Given the description of an element on the screen output the (x, y) to click on. 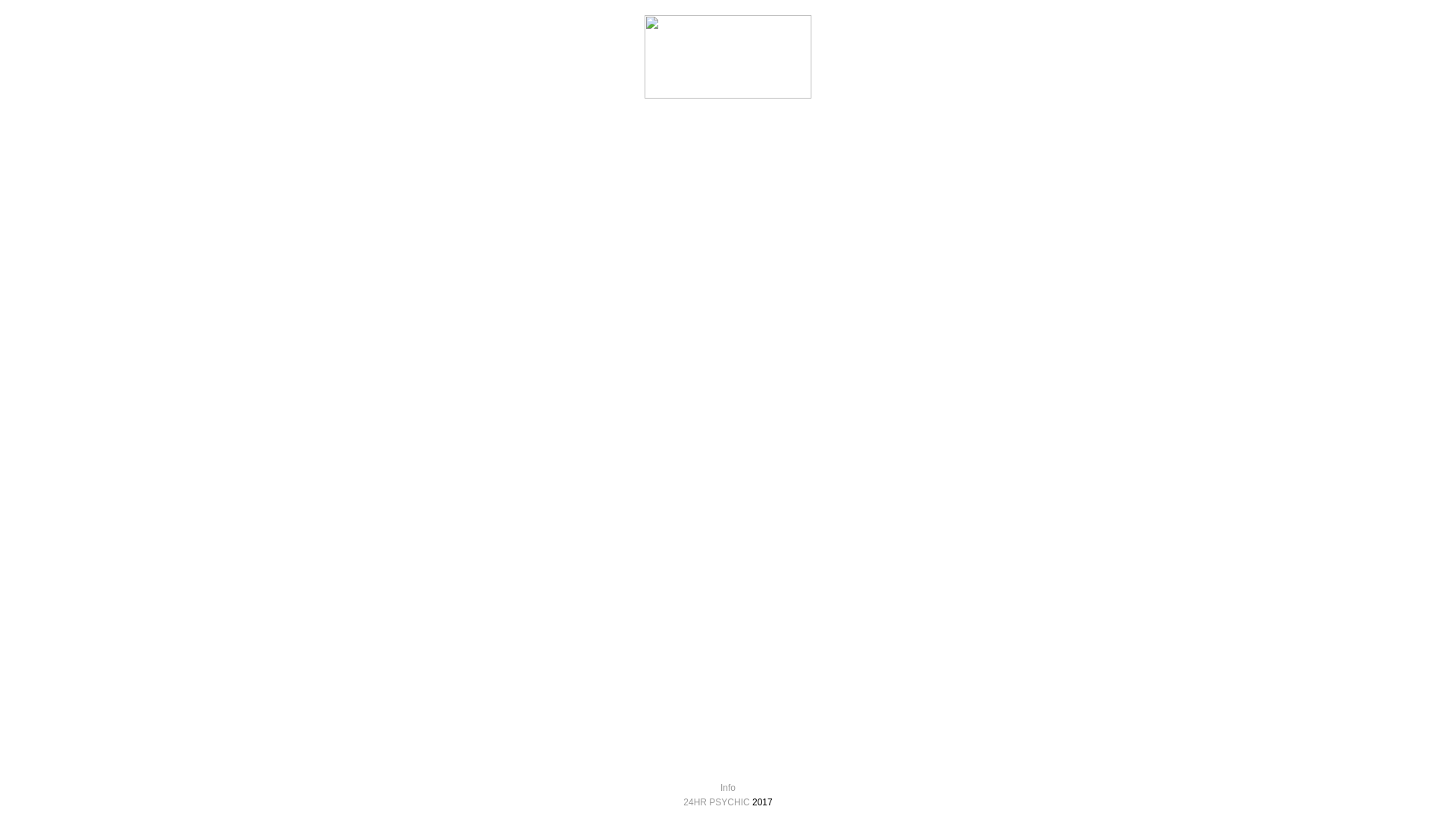
Info Element type: text (727, 787)
24HR PSYCHIC Element type: text (716, 802)
